Given the description of an element on the screen output the (x, y) to click on. 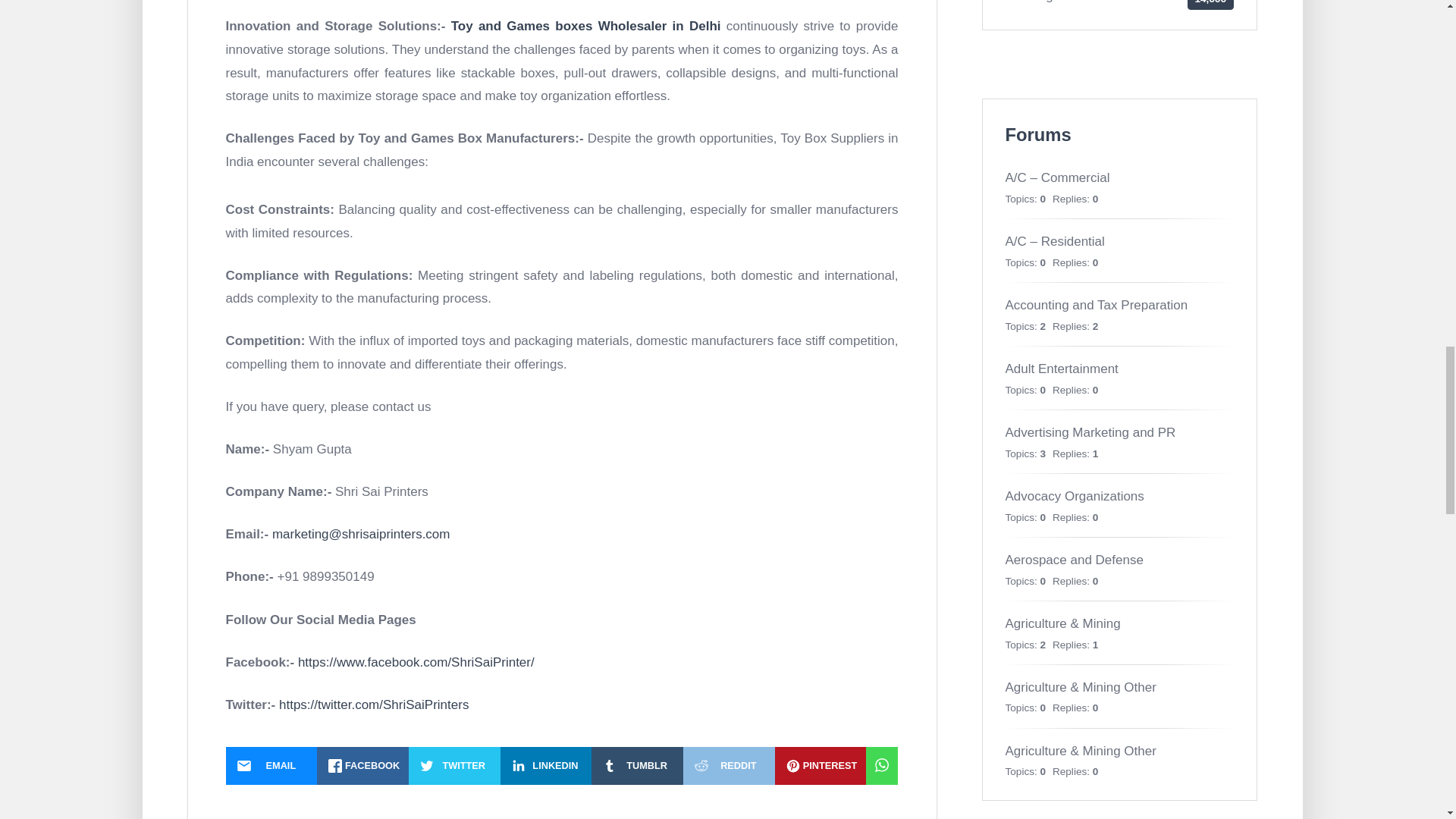
LINKEDIN (546, 765)
PINTEREST (820, 765)
REDDIT (728, 765)
TWITTER (454, 765)
TUMBLR (636, 765)
FACEBOOK (363, 765)
EMAIL (271, 765)
Toy and Games boxes Wholesaler in Delhi (585, 25)
